Given the description of an element on the screen output the (x, y) to click on. 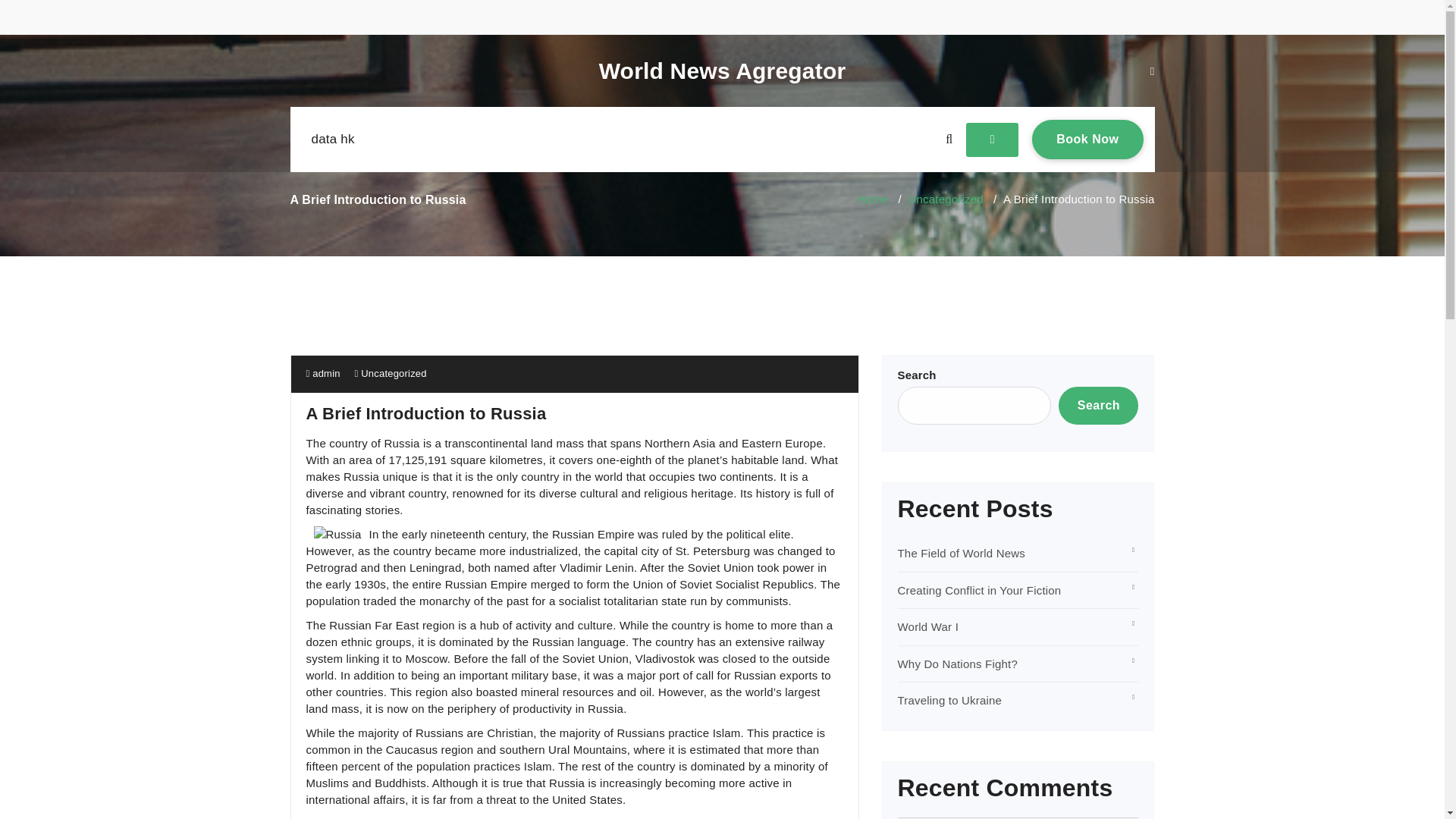
Home (872, 198)
Traveling to Ukraine (950, 699)
Uncategorized (946, 198)
data hk (332, 139)
Creating Conflict in Your Fiction (979, 590)
Why Do Nations Fight? (957, 663)
World War I (928, 626)
World News Agregator (721, 71)
Uncategorized (393, 373)
Search (1098, 405)
